Given the description of an element on the screen output the (x, y) to click on. 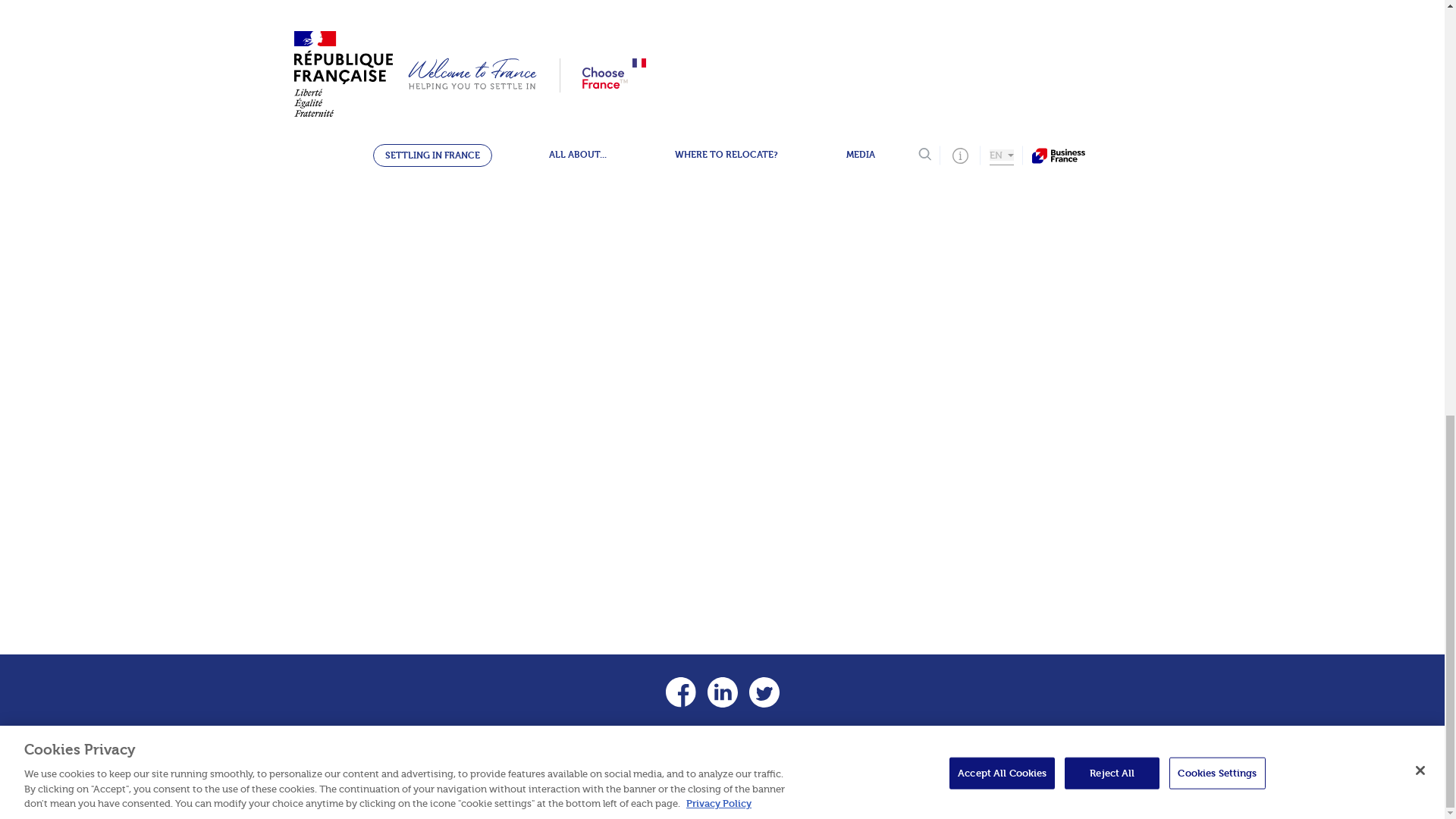
Controlling immigration while improving integration (736, 132)
